Given the description of an element on the screen output the (x, y) to click on. 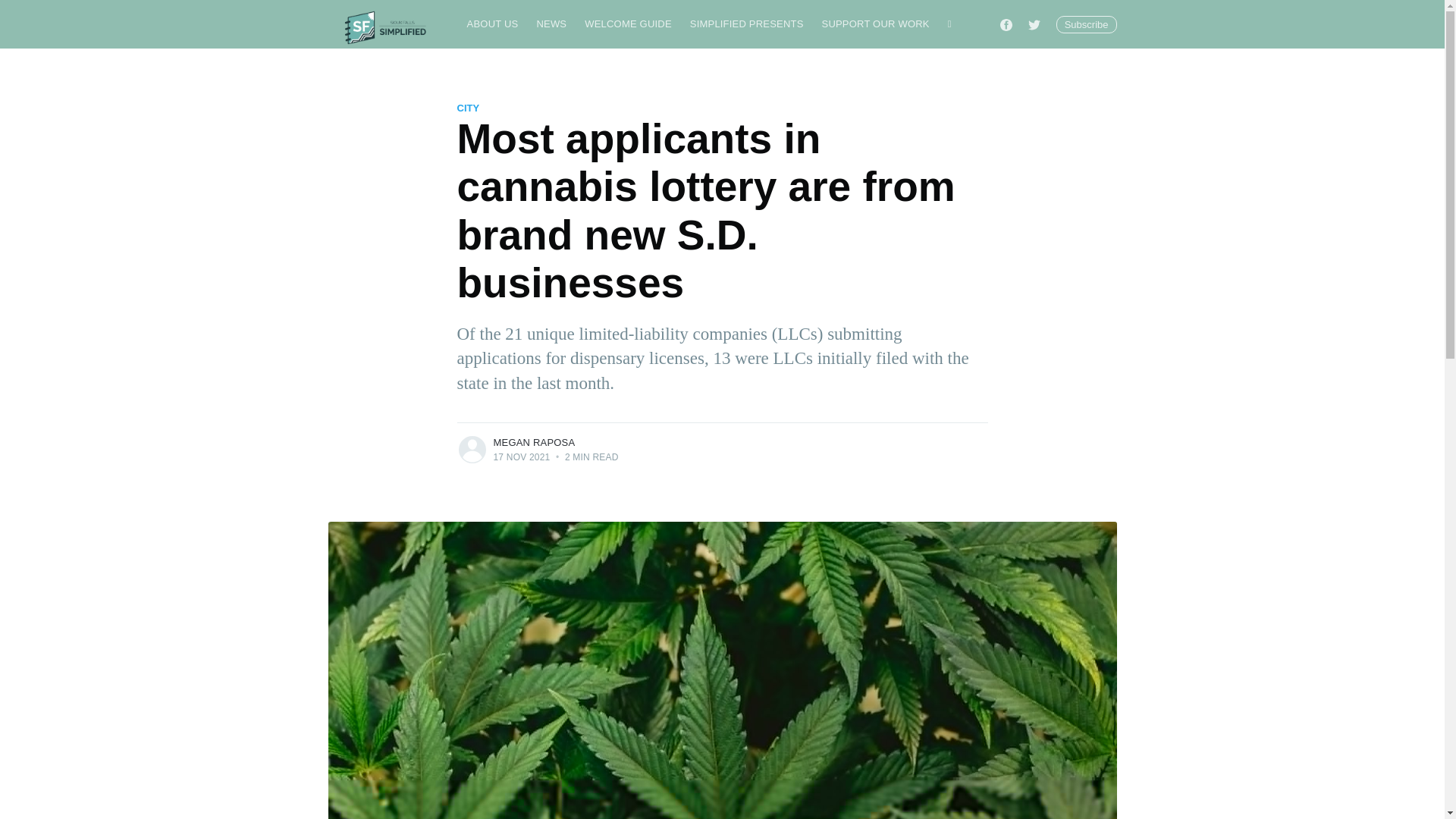
Subscribe (1086, 23)
ABOUT US (492, 24)
MEGAN RAPOSA (534, 441)
CITY (468, 108)
SIMPLIFIED PRESENTS (746, 24)
WELCOME GUIDE (628, 24)
NEWS (551, 24)
SUPPORT OUR WORK (875, 24)
